Given the description of an element on the screen output the (x, y) to click on. 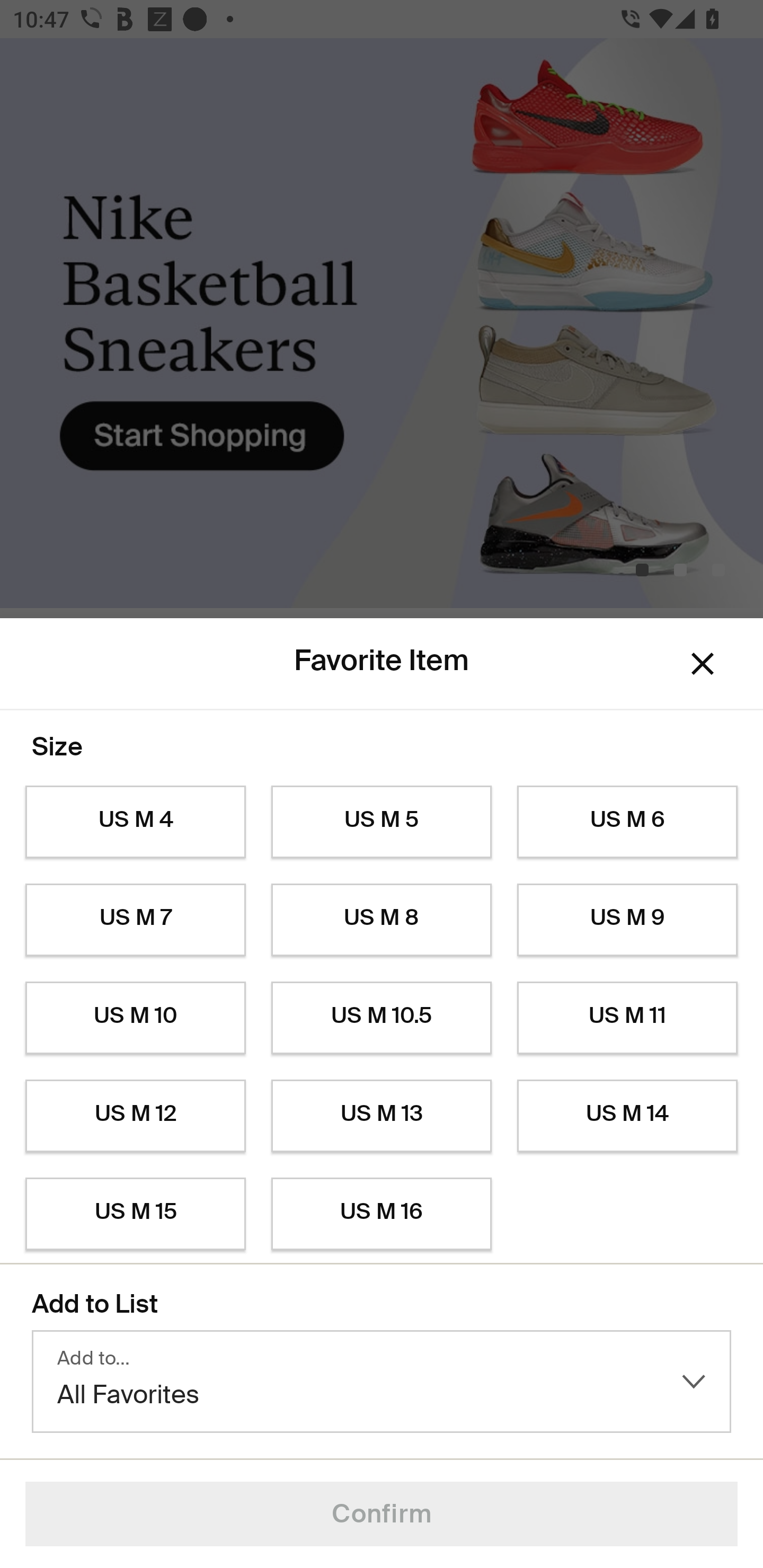
Dismiss (702, 663)
US M 4 (135, 822)
US M 5 (381, 822)
US M 6 (627, 822)
US M 7 (135, 919)
US M 8 (381, 919)
US M 9 (627, 919)
US M 10 (135, 1018)
US M 10.5 (381, 1018)
US M 11 (627, 1018)
US M 12 (135, 1116)
US M 13 (381, 1116)
US M 14 (627, 1116)
US M 15 (135, 1214)
US M 16 (381, 1214)
Add to… All Favorites (381, 1381)
Confirm (381, 1513)
